Given the description of an element on the screen output the (x, y) to click on. 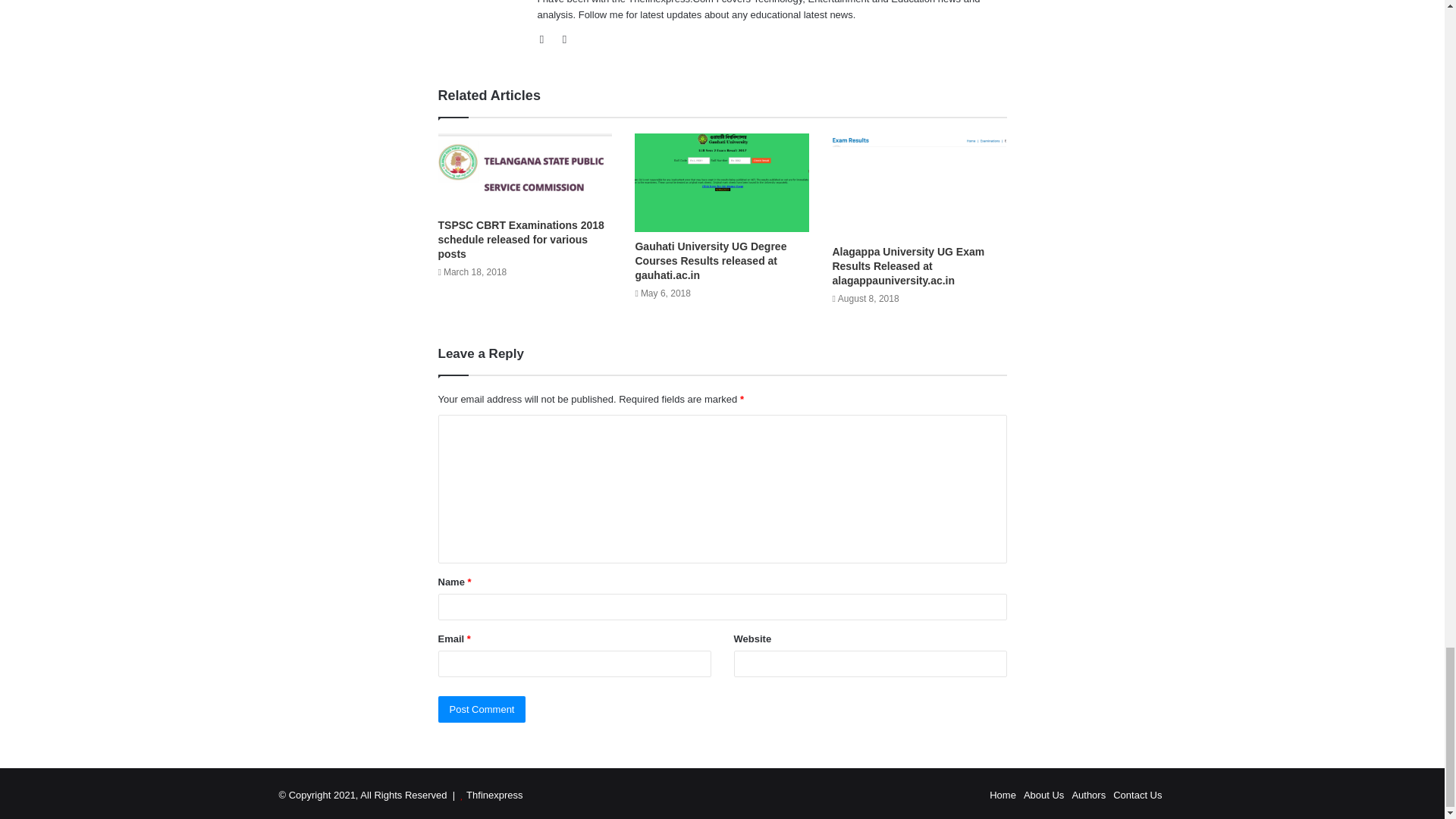
Post Comment (481, 709)
Twitter (563, 39)
Facebook (545, 39)
